Given the description of an element on the screen output the (x, y) to click on. 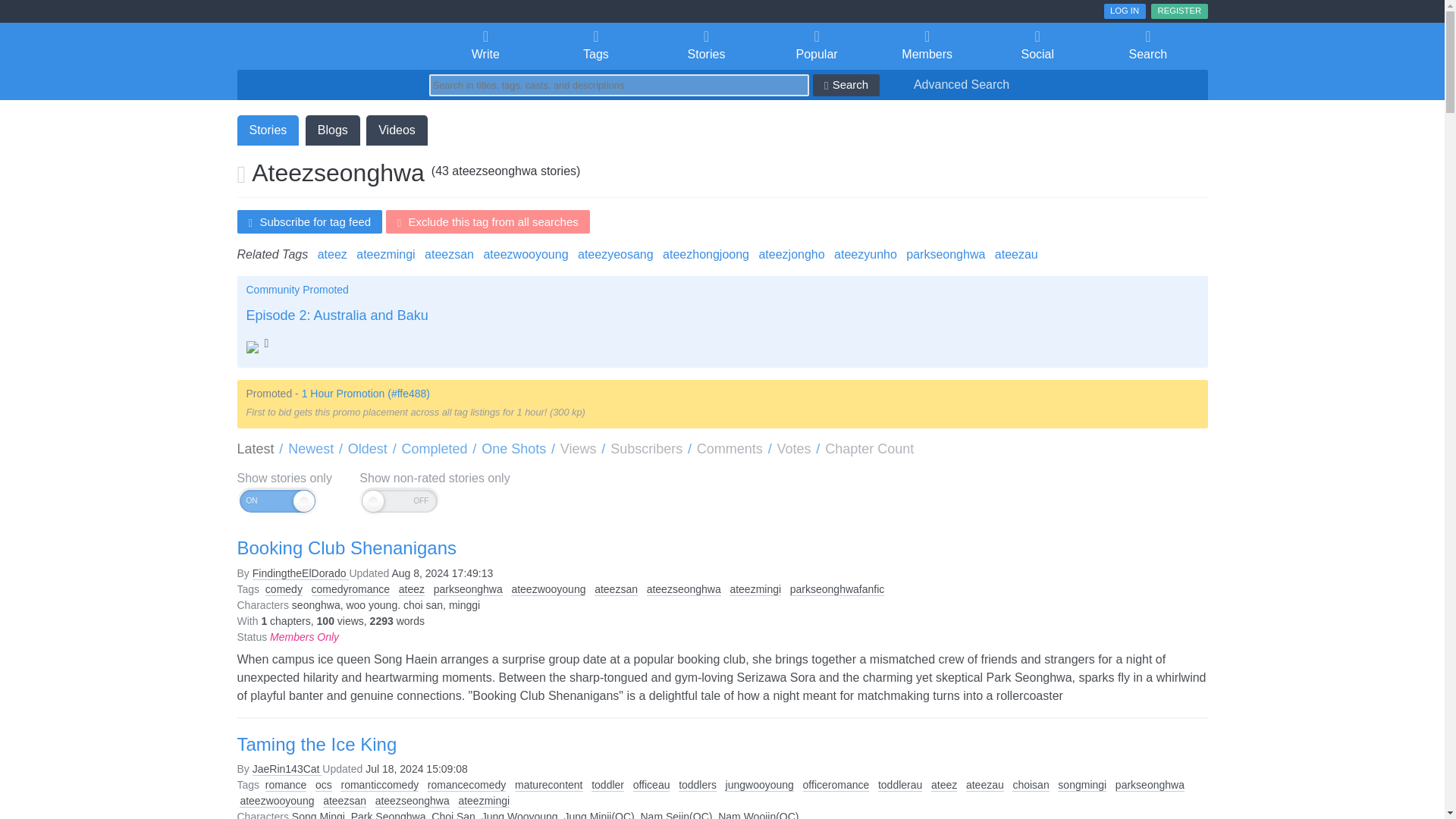
Search (1148, 45)
LOG IN (1124, 10)
Stories (705, 45)
Write (485, 45)
Members (927, 45)
Social (1037, 45)
Tags (595, 45)
Popular (816, 45)
REGISTER (1179, 10)
